Given the description of an element on the screen output the (x, y) to click on. 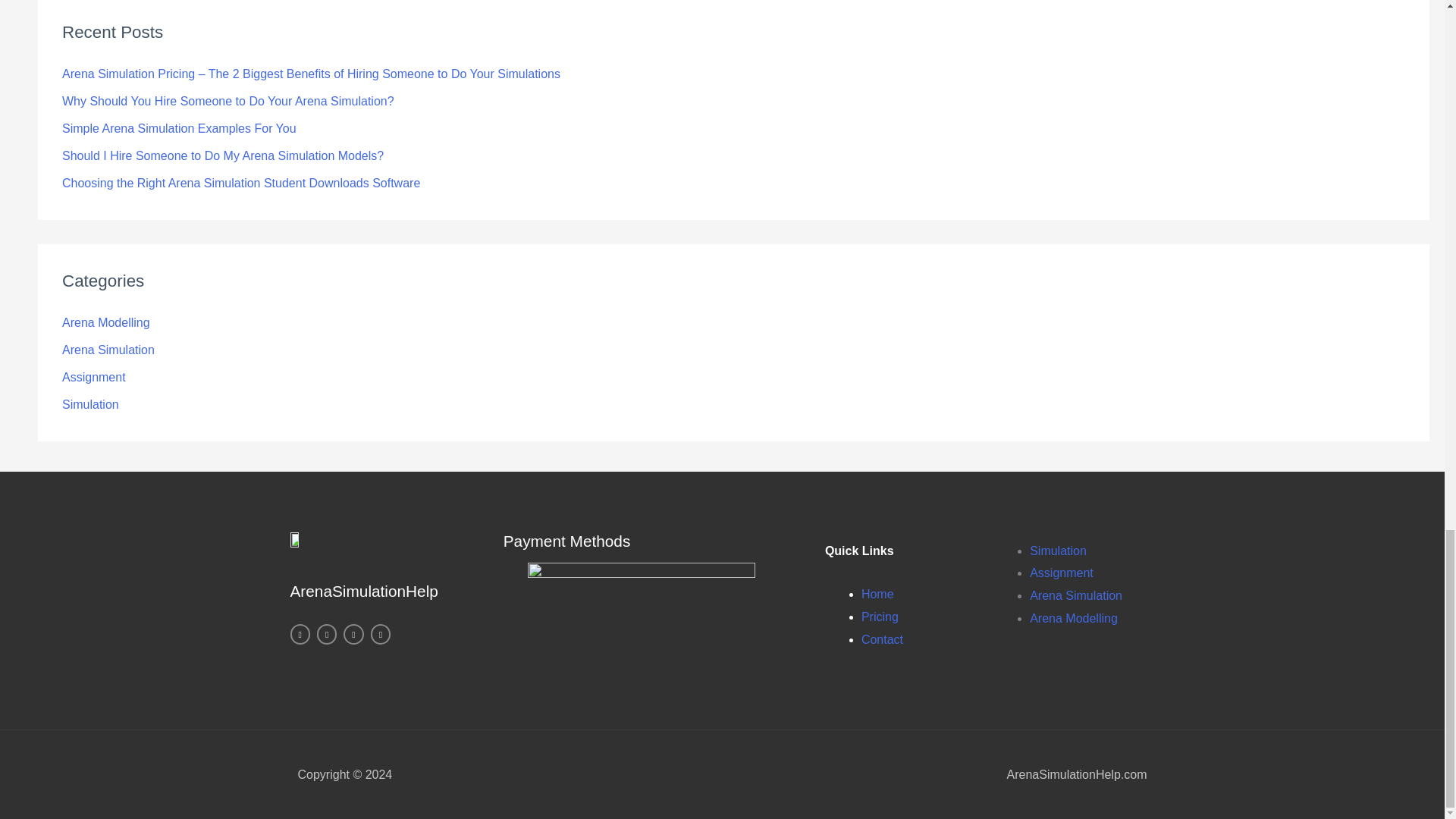
Simple Arena Simulation Examples For You (179, 128)
Simulation (1057, 550)
Assignment (93, 377)
Pricing (879, 616)
Twitter (326, 633)
Arena Simulation (108, 349)
Arena Simulation (1075, 594)
Contact (881, 639)
Should I Hire Someone to Do My Arena Simulation Models? (223, 155)
Facebook (380, 633)
Assignment (1061, 572)
Instagram (298, 633)
Arena Modelling (105, 322)
Simulation (90, 404)
Why Should You Hire Someone to Do Your Arena Simulation? (228, 101)
